Given the description of an element on the screen output the (x, y) to click on. 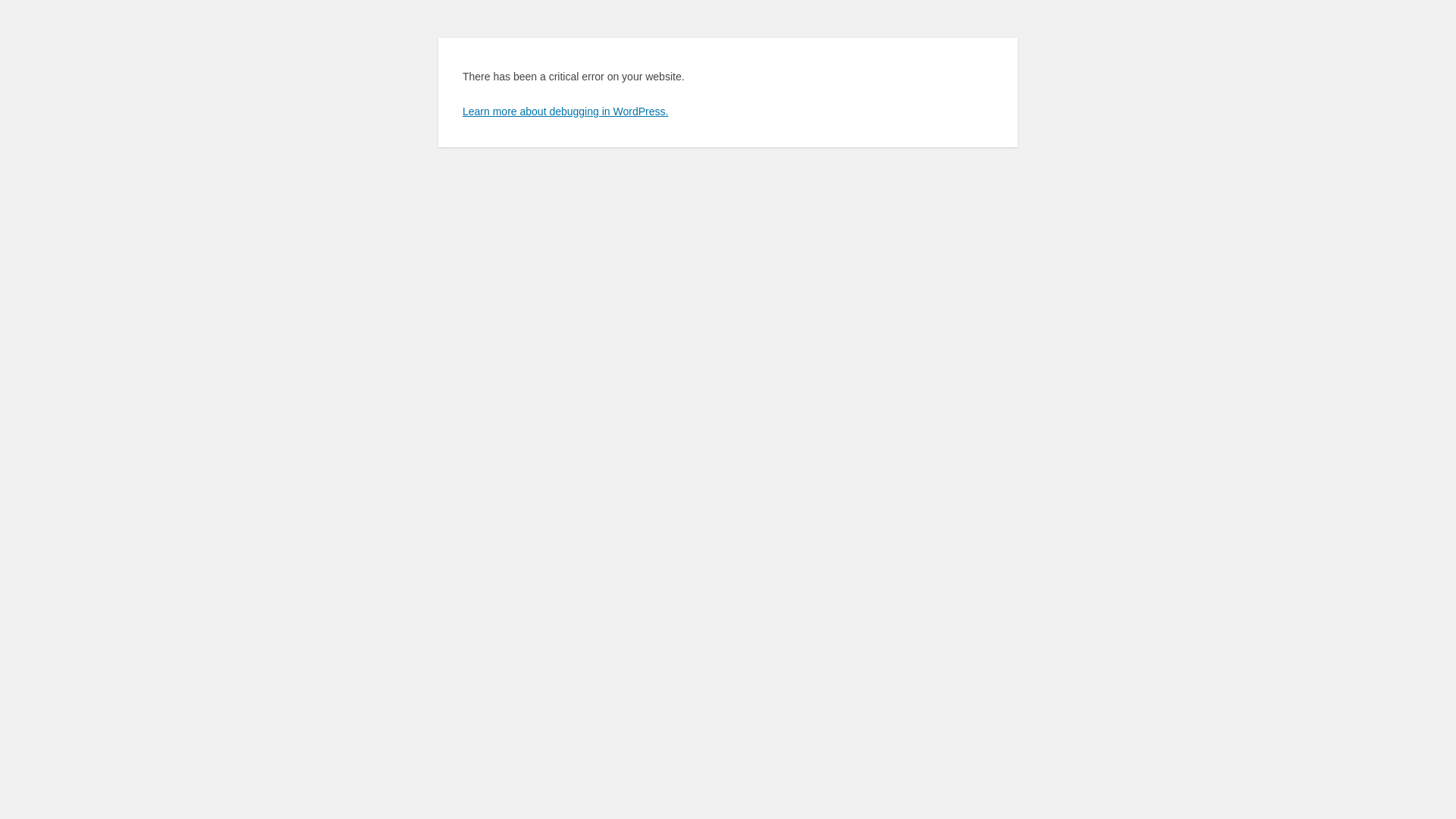
Learn more about debugging in WordPress. Element type: text (565, 111)
